Given the description of an element on the screen output the (x, y) to click on. 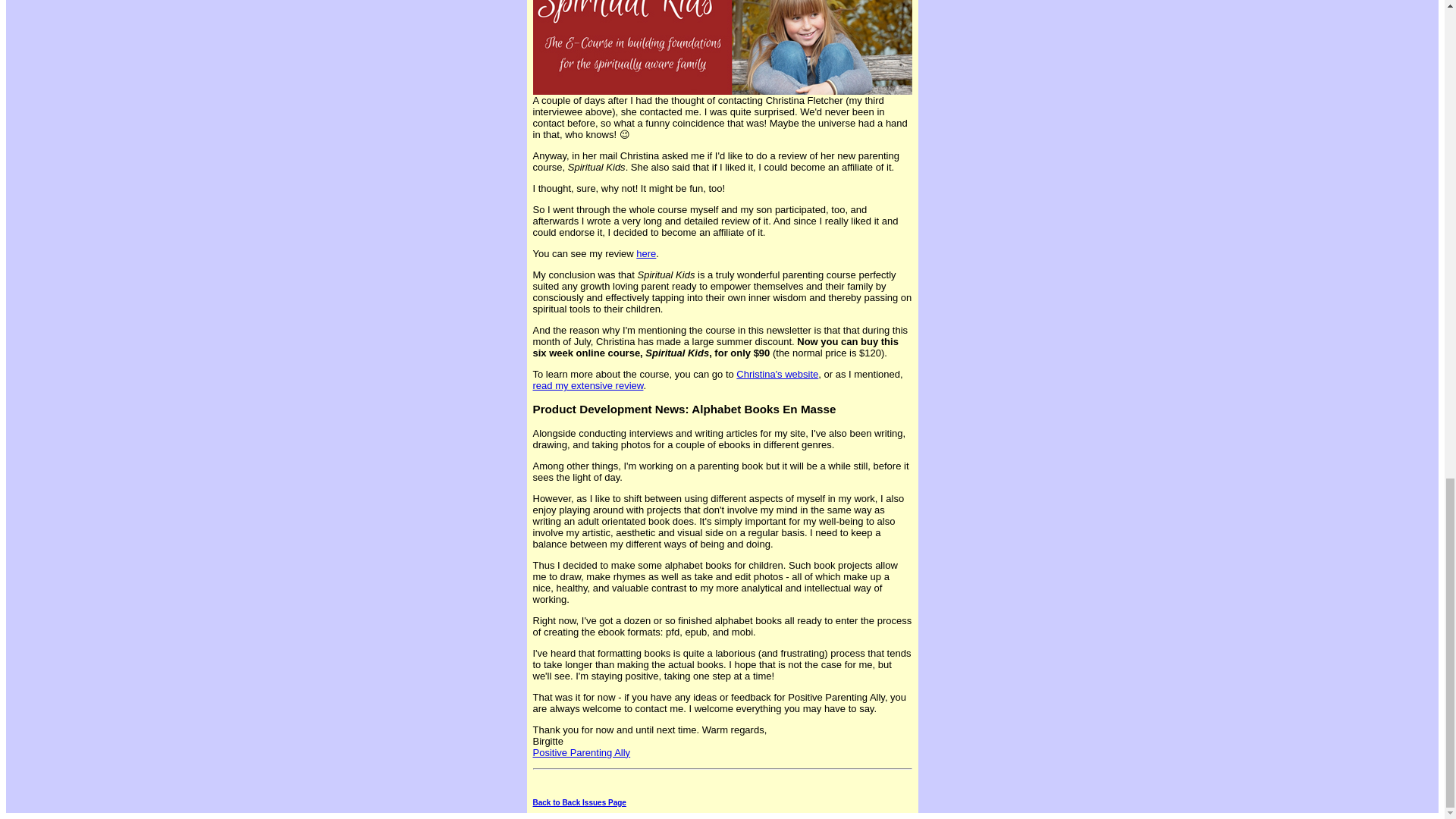
Positive Parenting Ally (581, 752)
Christina's website (777, 374)
read my extensive review (587, 385)
here (646, 253)
Back to Back Issues Page (579, 802)
